Given the description of an element on the screen output the (x, y) to click on. 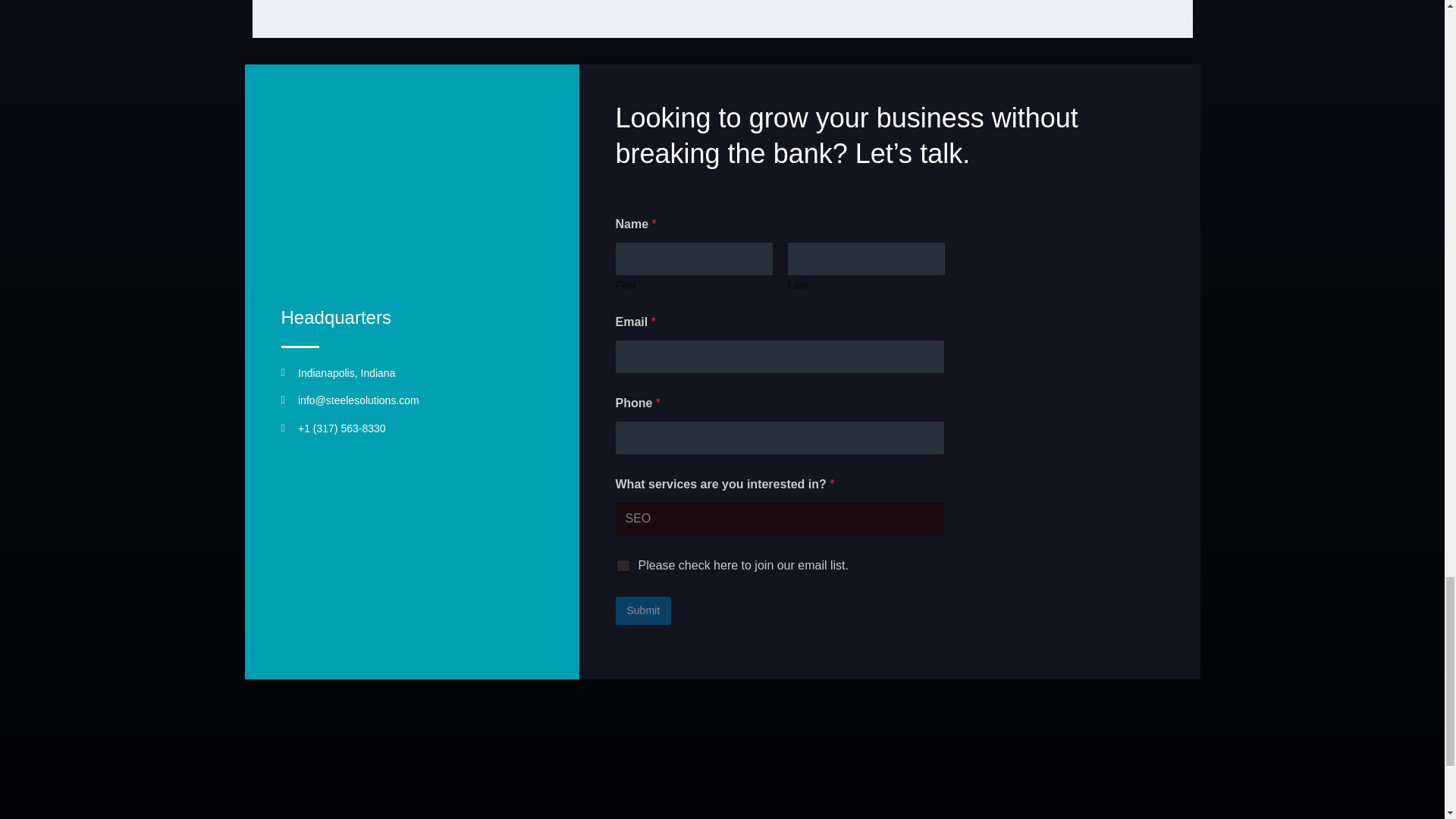
Please check here to join our email list. (622, 565)
